Given the description of an element on the screen output the (x, y) to click on. 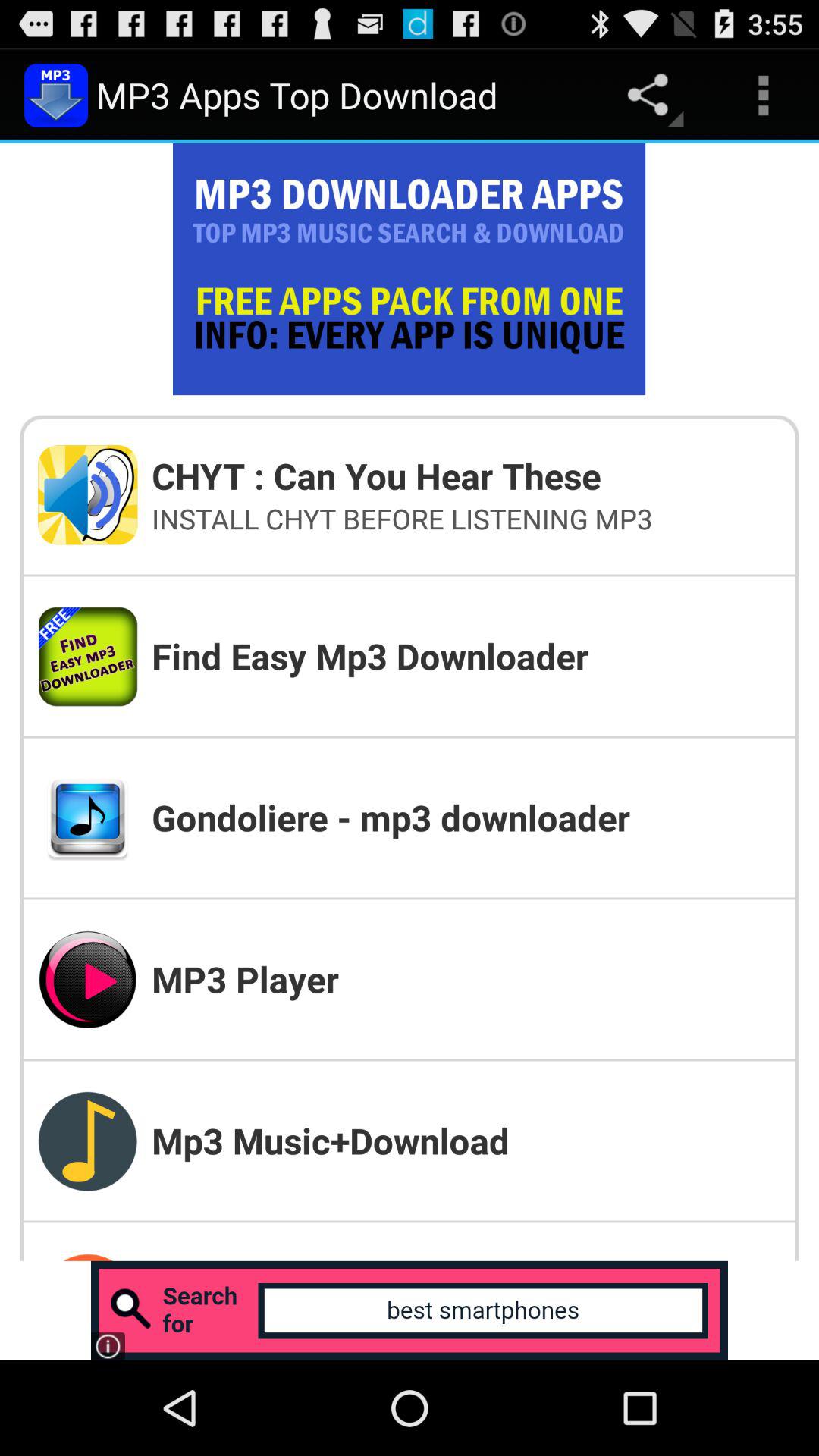
a link to an advertisement (409, 1310)
